Given the description of an element on the screen output the (x, y) to click on. 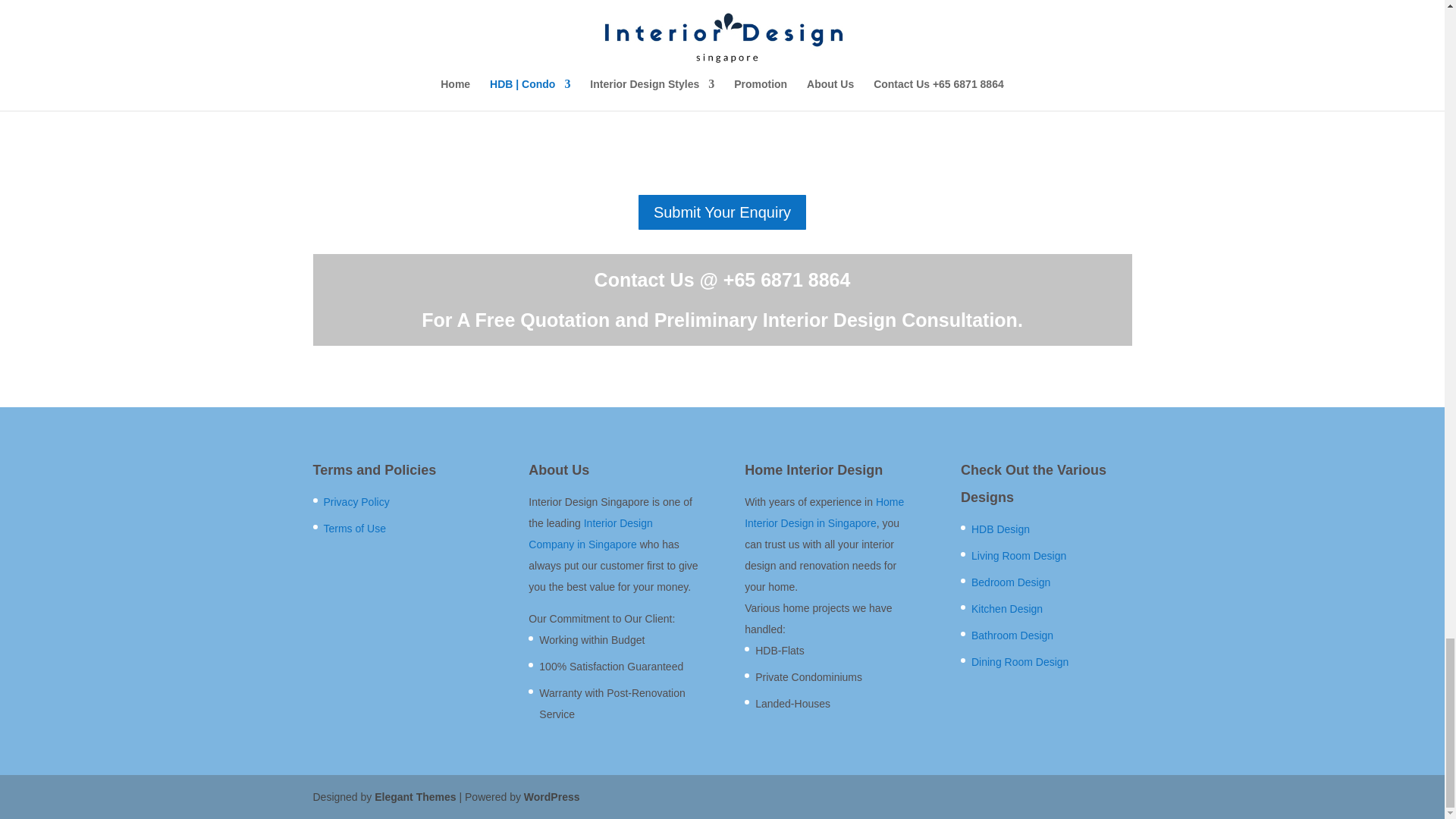
interior design (959, 38)
HDB Design (1000, 529)
Interior Design Company in Singapore (590, 533)
Submit Your Enquiry (722, 211)
Privacy Policy (355, 501)
Premium WordPress Themes (414, 797)
Home Interior Design in Singapore (824, 512)
professional interior design and renovation company (436, 38)
Terms of Use (354, 528)
